Given the description of an element on the screen output the (x, y) to click on. 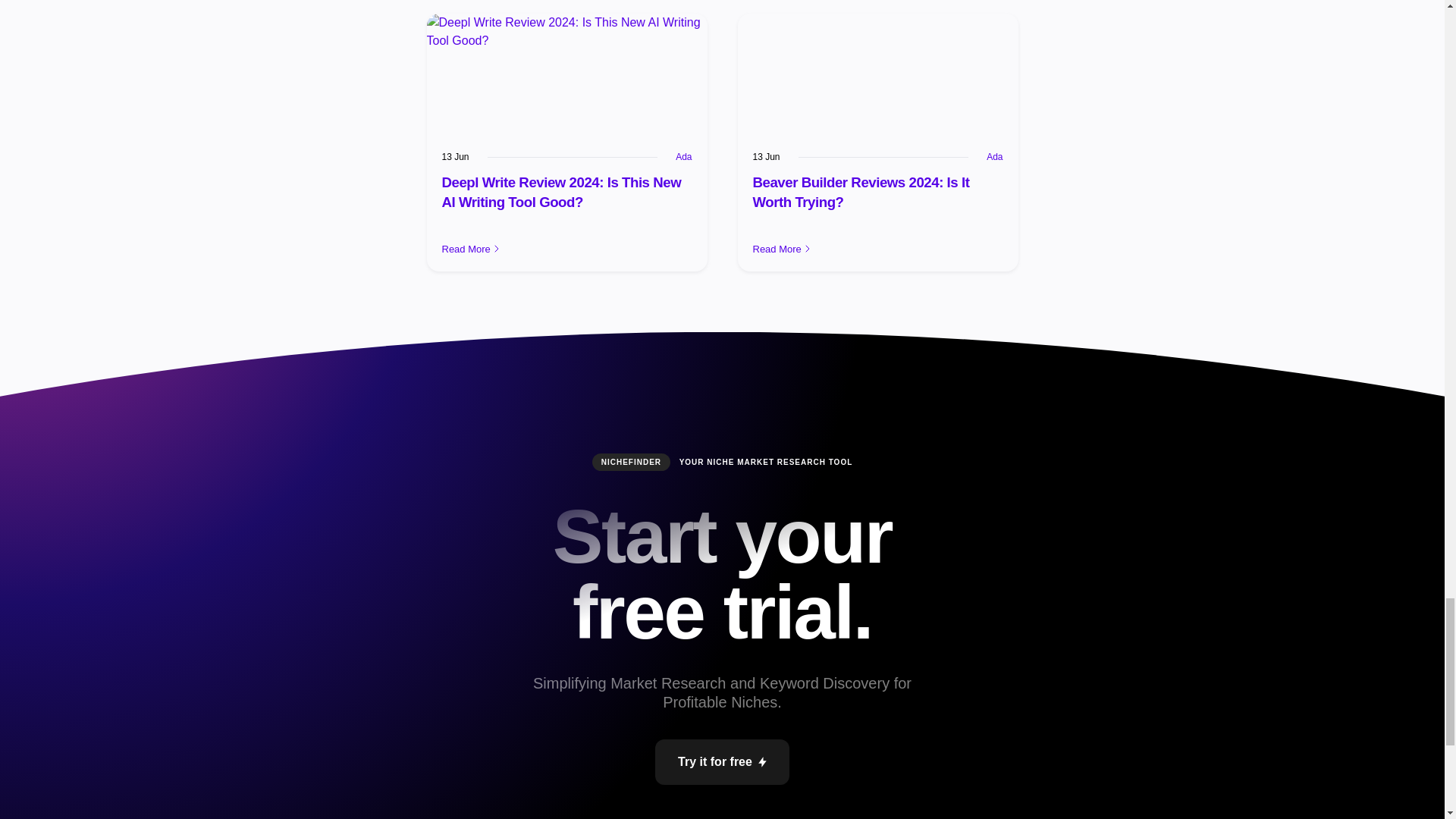
Deepl Write Review 2024: Is This New AI Writing Tool Good? (561, 191)
Ada (995, 156)
Read More (566, 249)
Ada (683, 156)
Beaver Builder Reviews 2024: Is It Worth Trying? (860, 191)
Try it for free (722, 761)
Read More (877, 249)
